Given the description of an element on the screen output the (x, y) to click on. 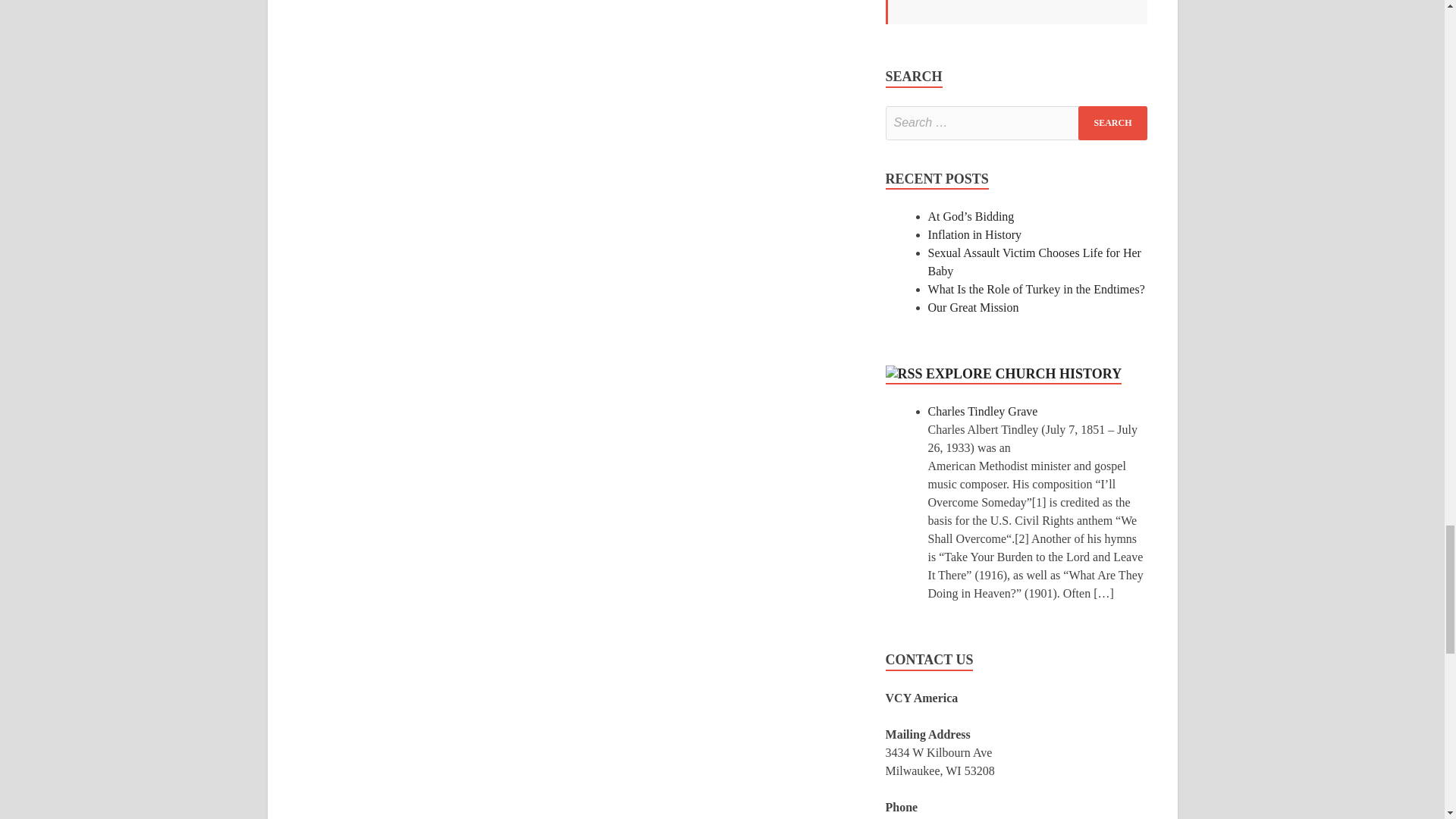
Search (1112, 123)
Comment Form (575, 47)
Search (1112, 123)
